Given the description of an element on the screen output the (x, y) to click on. 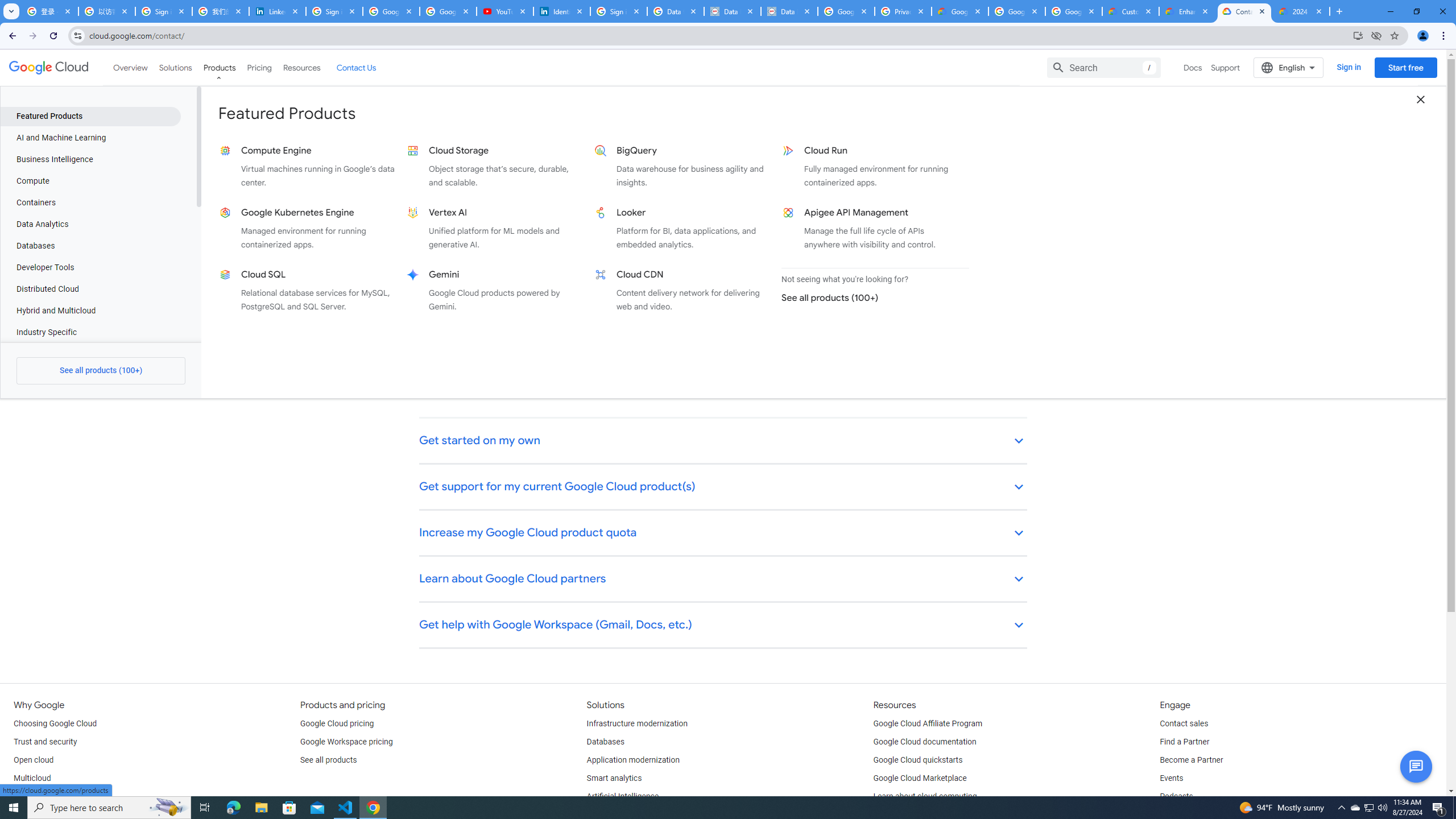
Google Cloud Terms Directory | Google Cloud (959, 11)
LinkedIn Privacy Policy (277, 11)
Google Cloud Affiliate Program (927, 723)
Multicloud (31, 778)
Business Intelligence (90, 159)
Start free (1405, 67)
